Given the description of an element on the screen output the (x, y) to click on. 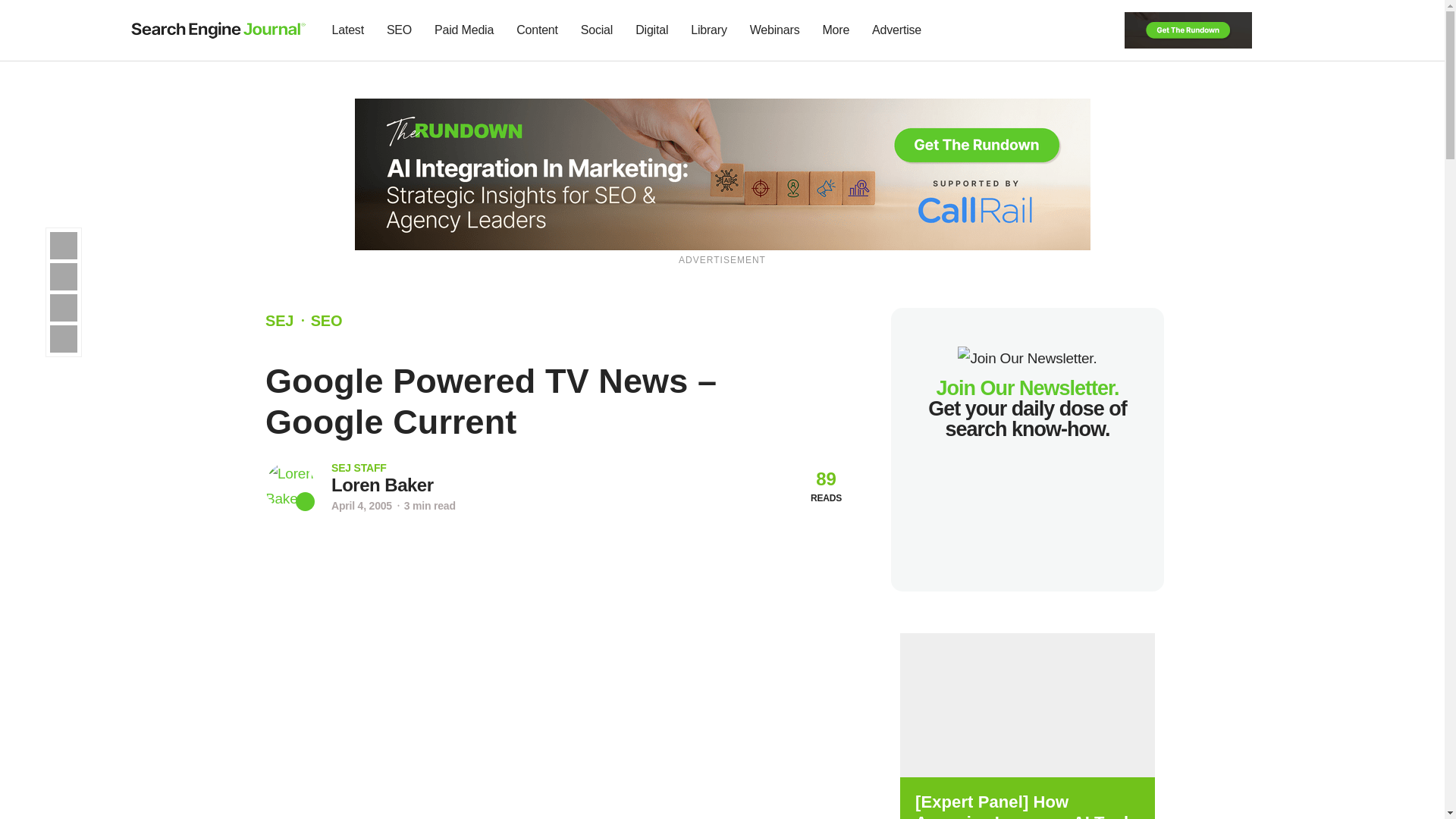
Paid Media (464, 30)
Get The Rundown (1187, 28)
Go to Author Page (382, 485)
Latest (347, 30)
Subscribe to our Newsletter (1277, 30)
Get The Rundown (722, 172)
Go to Author Page (289, 486)
